Given the description of an element on the screen output the (x, y) to click on. 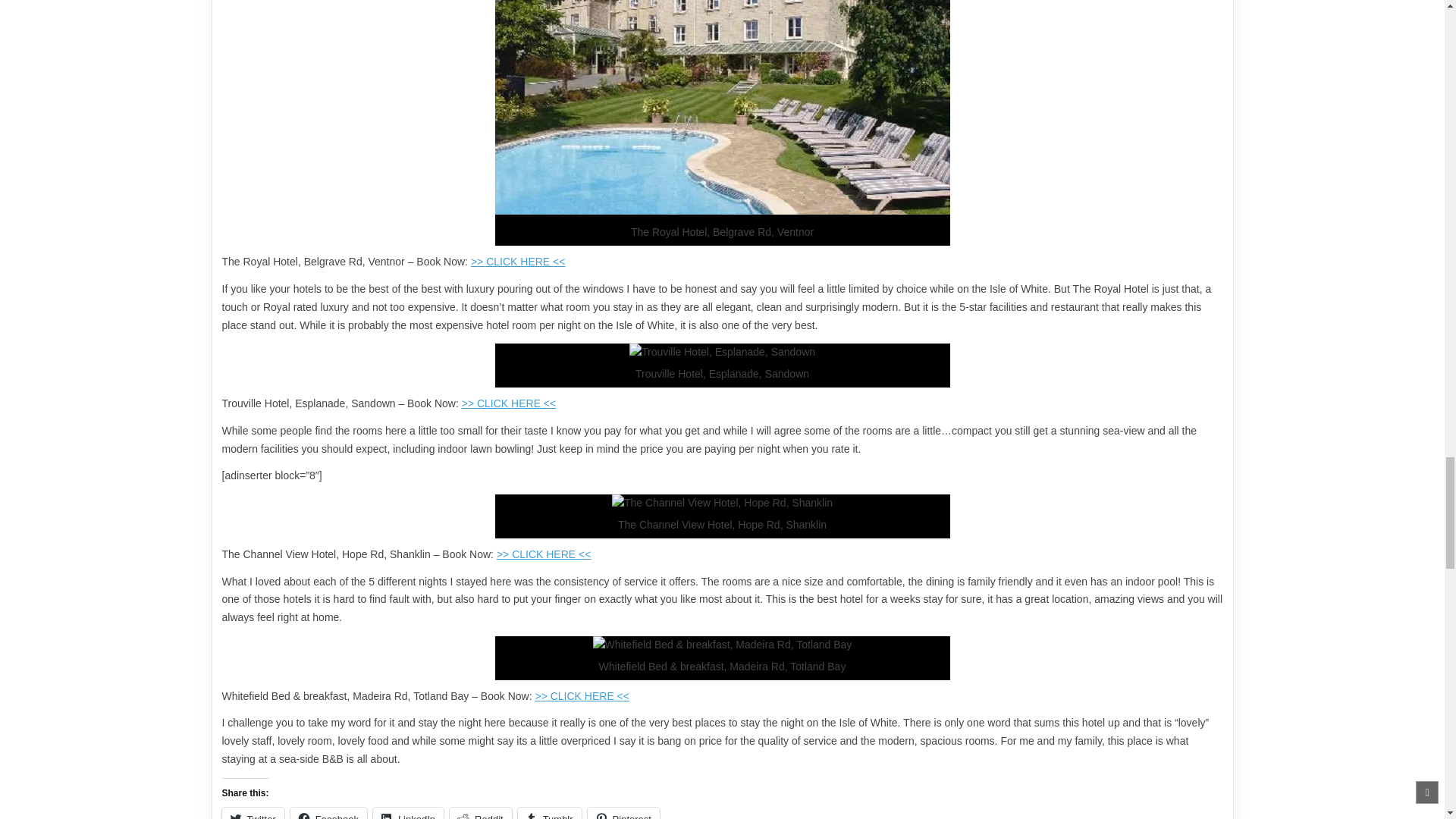
Reddit (480, 813)
Click to share on LinkedIn (408, 813)
Twitter (252, 813)
Click to share on Tumblr (549, 813)
Click to share on Facebook (327, 813)
Tumblr (549, 813)
Click to share on Pinterest (623, 813)
Pinterest (623, 813)
Facebook (327, 813)
LinkedIn (408, 813)
